Given the description of an element on the screen output the (x, y) to click on. 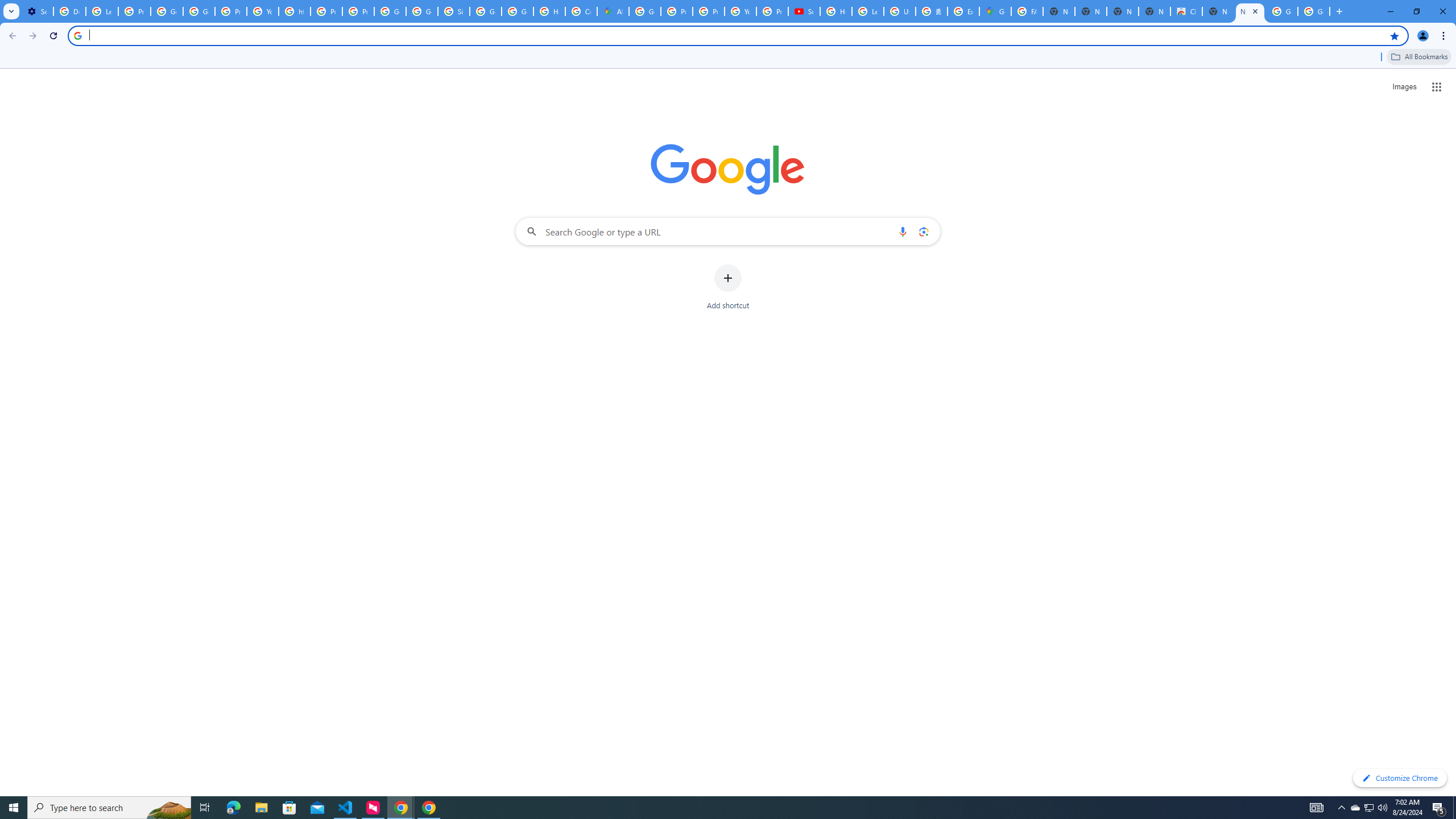
Settings - On startup (37, 11)
Search Google or type a URL (727, 230)
Privacy Help Center - Policies Help (326, 11)
New Tab (1249, 11)
Bookmarks (728, 58)
